Given the description of an element on the screen output the (x, y) to click on. 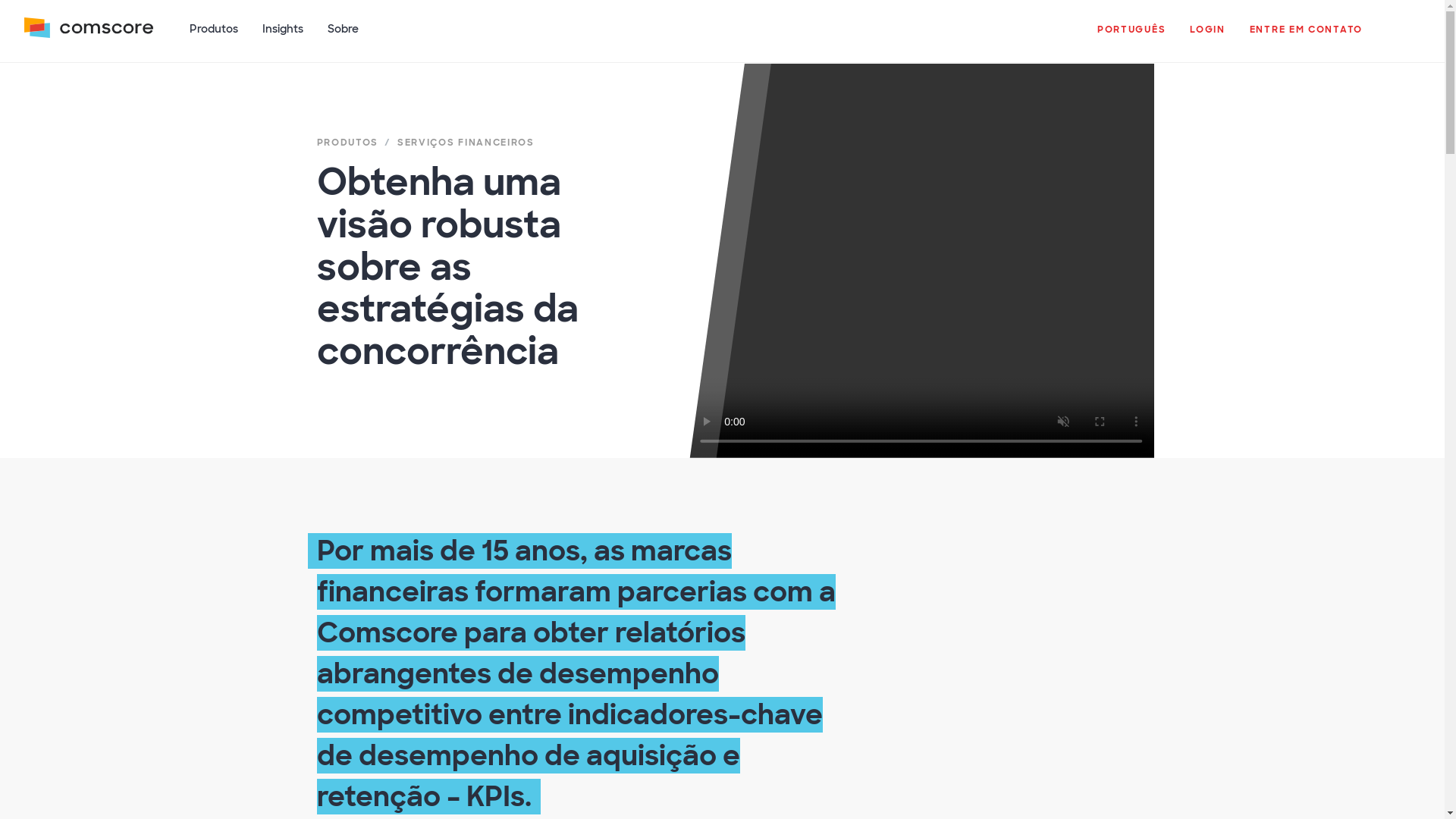
Insights (282, 37)
Produtos (213, 37)
Sobre (343, 37)
Produtos (213, 37)
Home (88, 37)
Insights (282, 37)
